Given the description of an element on the screen output the (x, y) to click on. 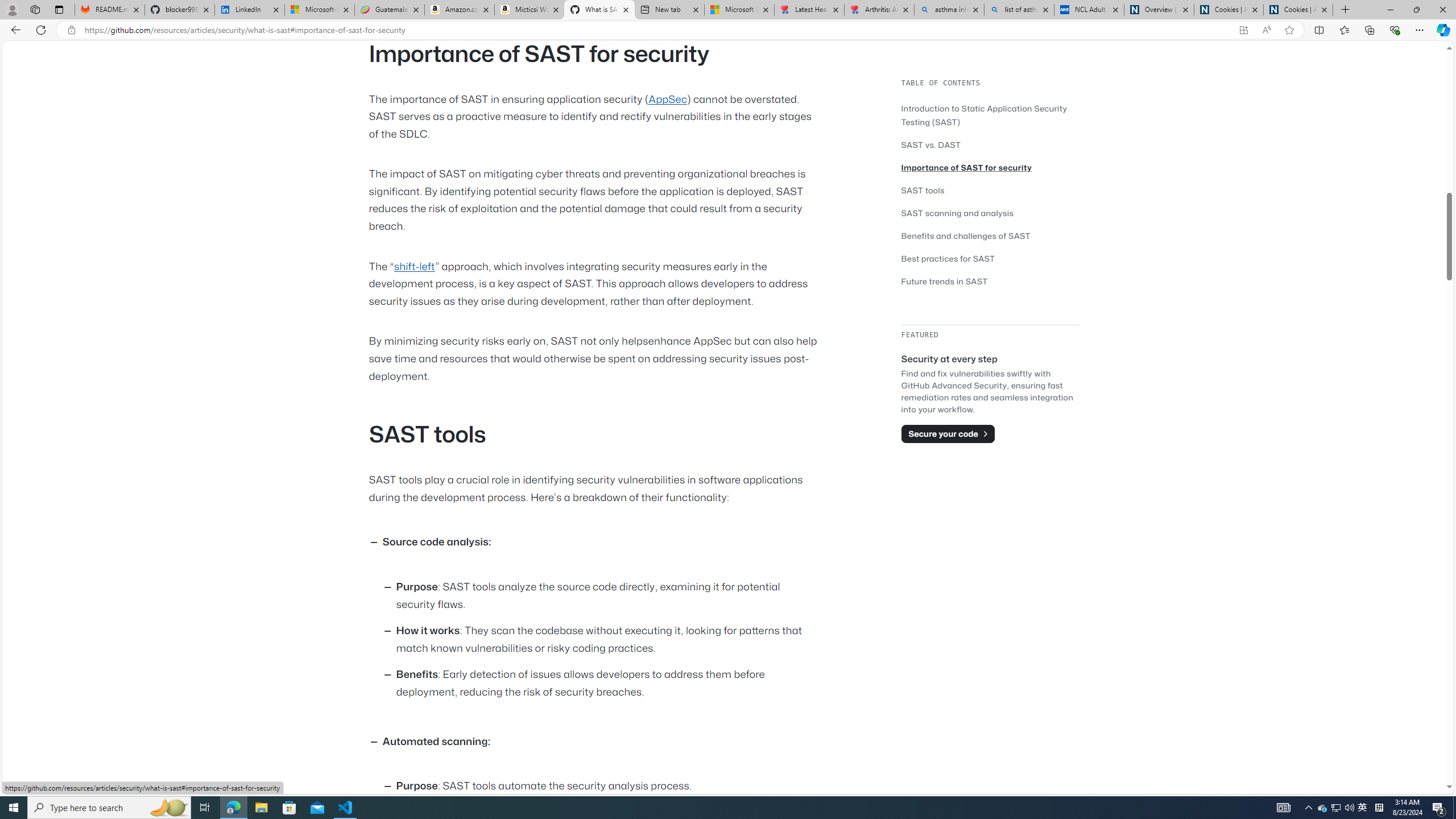
Best practices for SAST (948, 258)
SAST scanning and analysis (989, 212)
SAST scanning and analysis (957, 212)
Cookies | About | NICE (1297, 9)
SAST vs. DAST (989, 144)
shift-left (414, 266)
asthma inhaler - Search (949, 9)
